Given the description of an element on the screen output the (x, y) to click on. 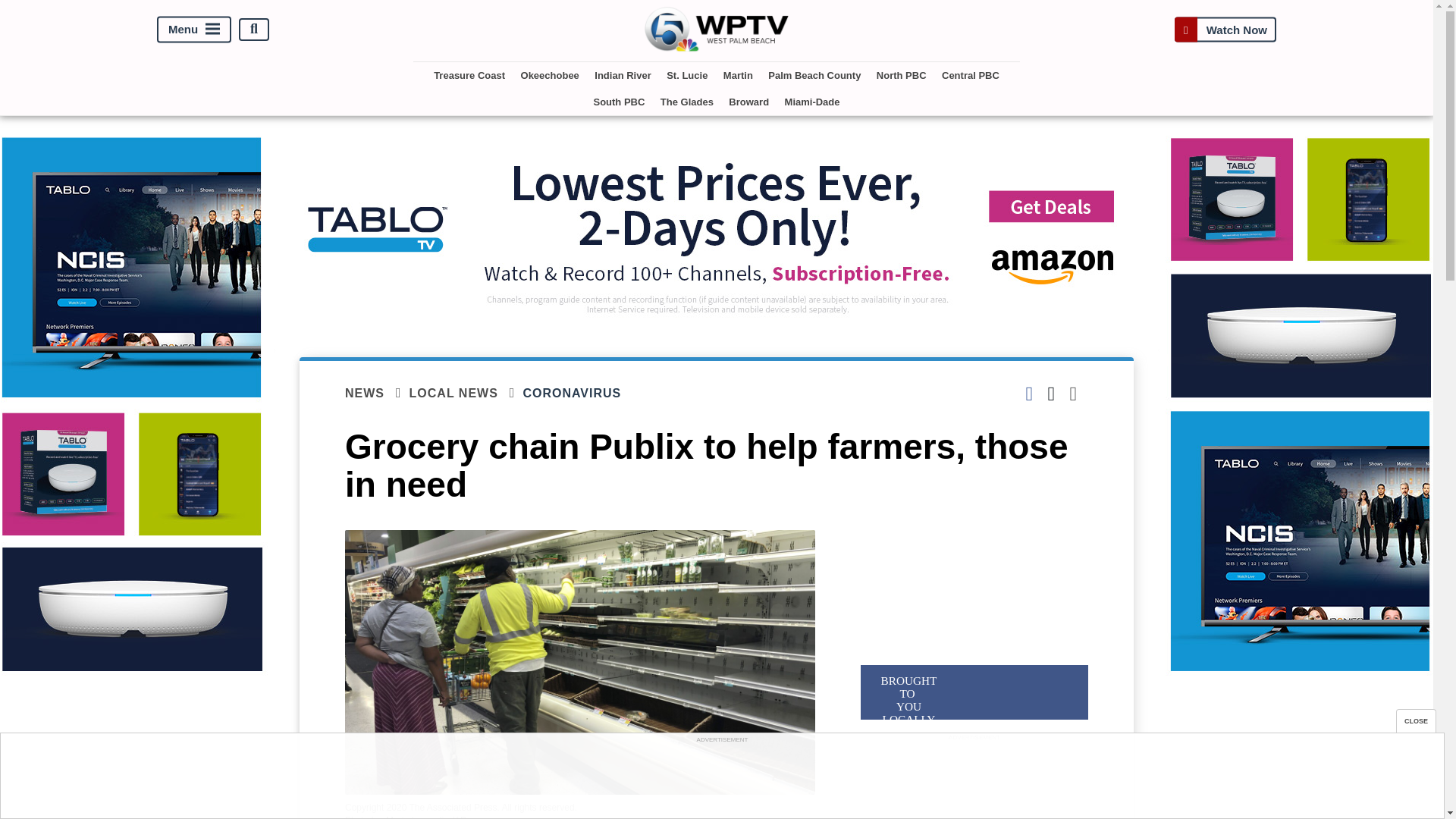
Watch Now (1224, 29)
Menu (194, 28)
3rd party ad content (721, 780)
3rd party ad content (973, 781)
